Given the description of an element on the screen output the (x, y) to click on. 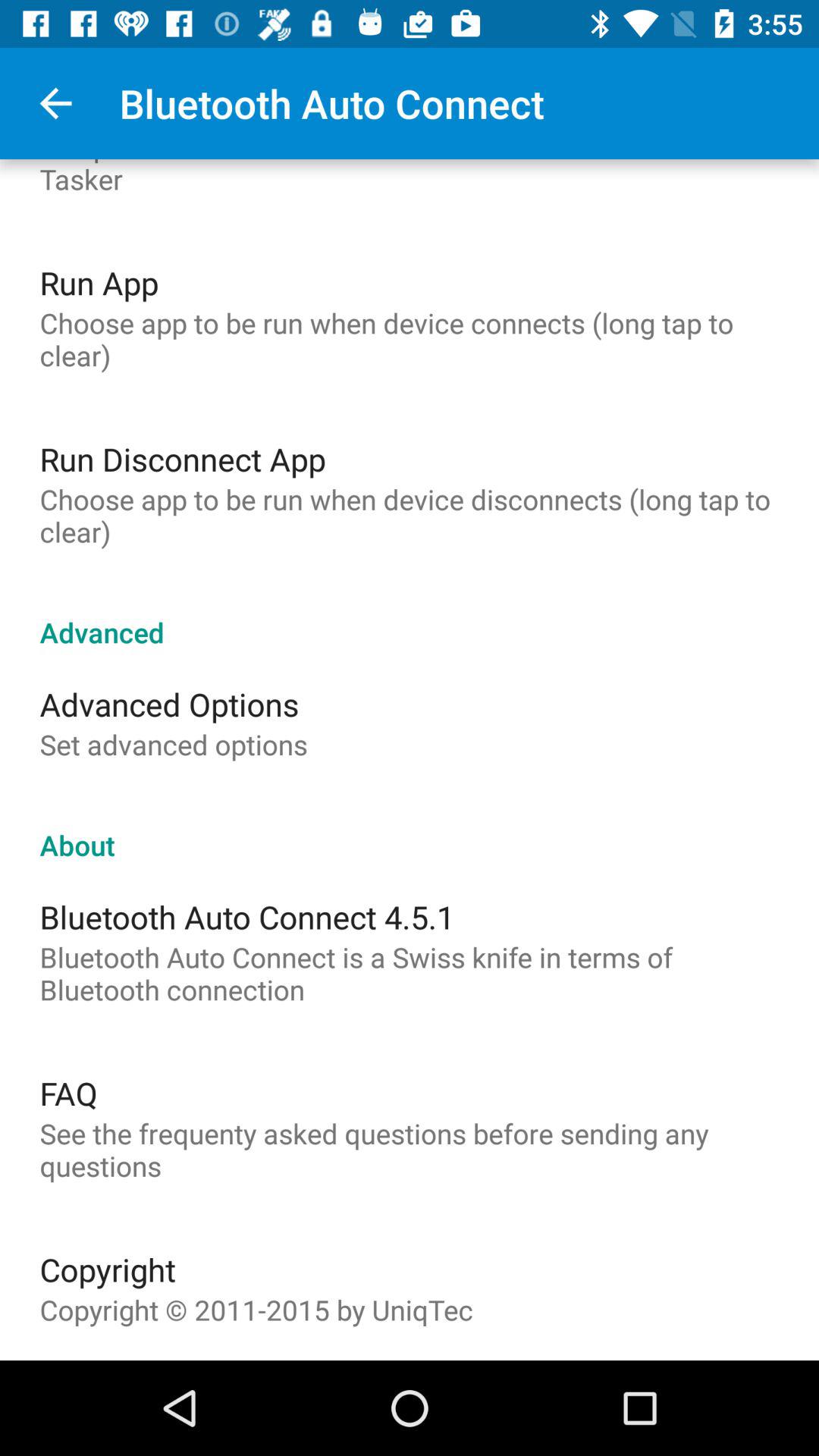
swipe to the copyright 2011 2015 item (256, 1309)
